Given the description of an element on the screen output the (x, y) to click on. 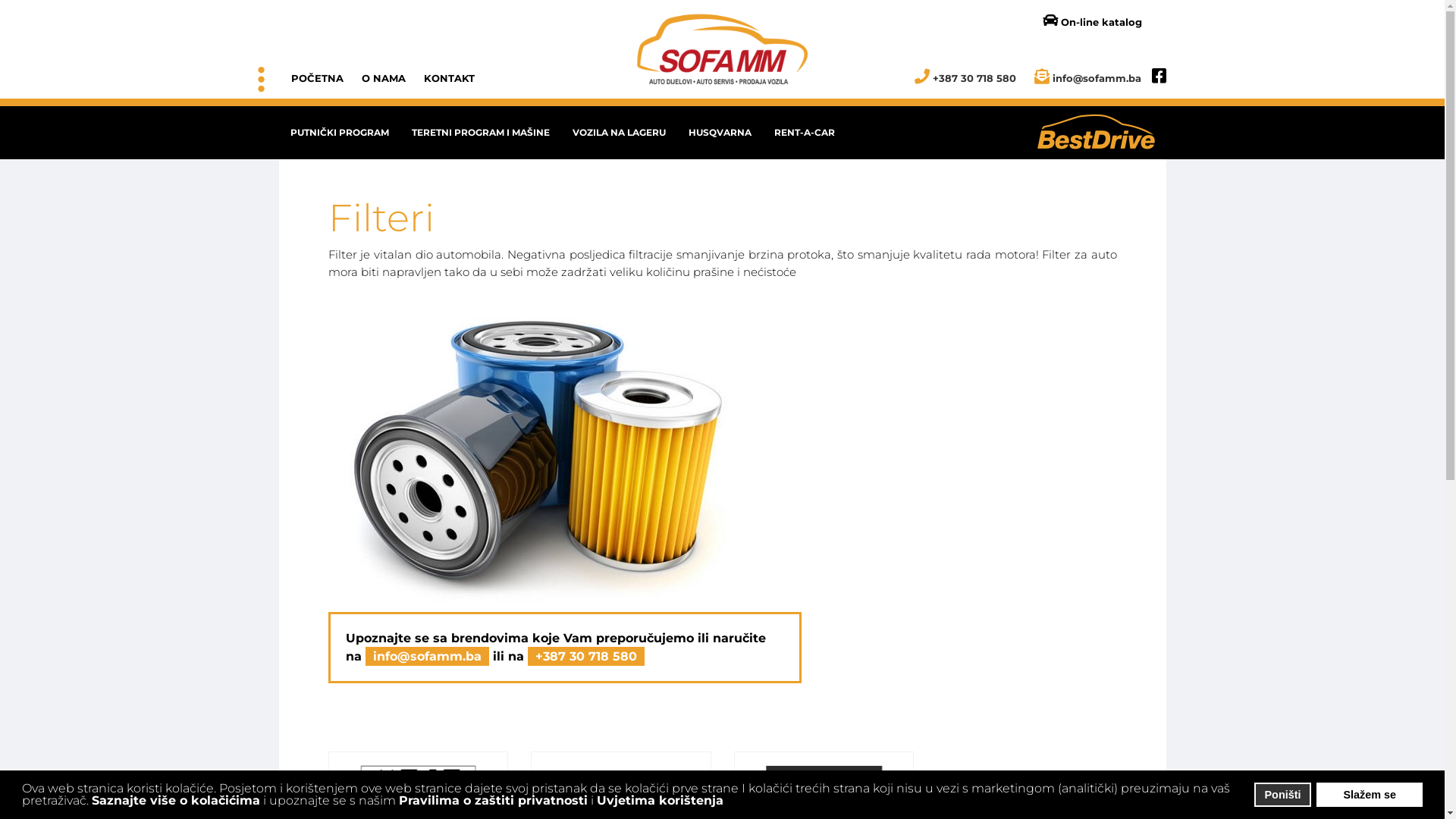
info@sofamm.ba Element type: text (427, 655)
HUSQVARNA Element type: text (719, 132)
On-line katalog Element type: text (1083, 21)
RENT-A-CAR Element type: text (804, 132)
O NAMA Element type: text (382, 78)
KONTAKT Element type: text (448, 78)
+387 30 718 580 Element type: text (585, 655)
VOZILA NA LAGERU Element type: text (619, 132)
